Given the description of an element on the screen output the (x, y) to click on. 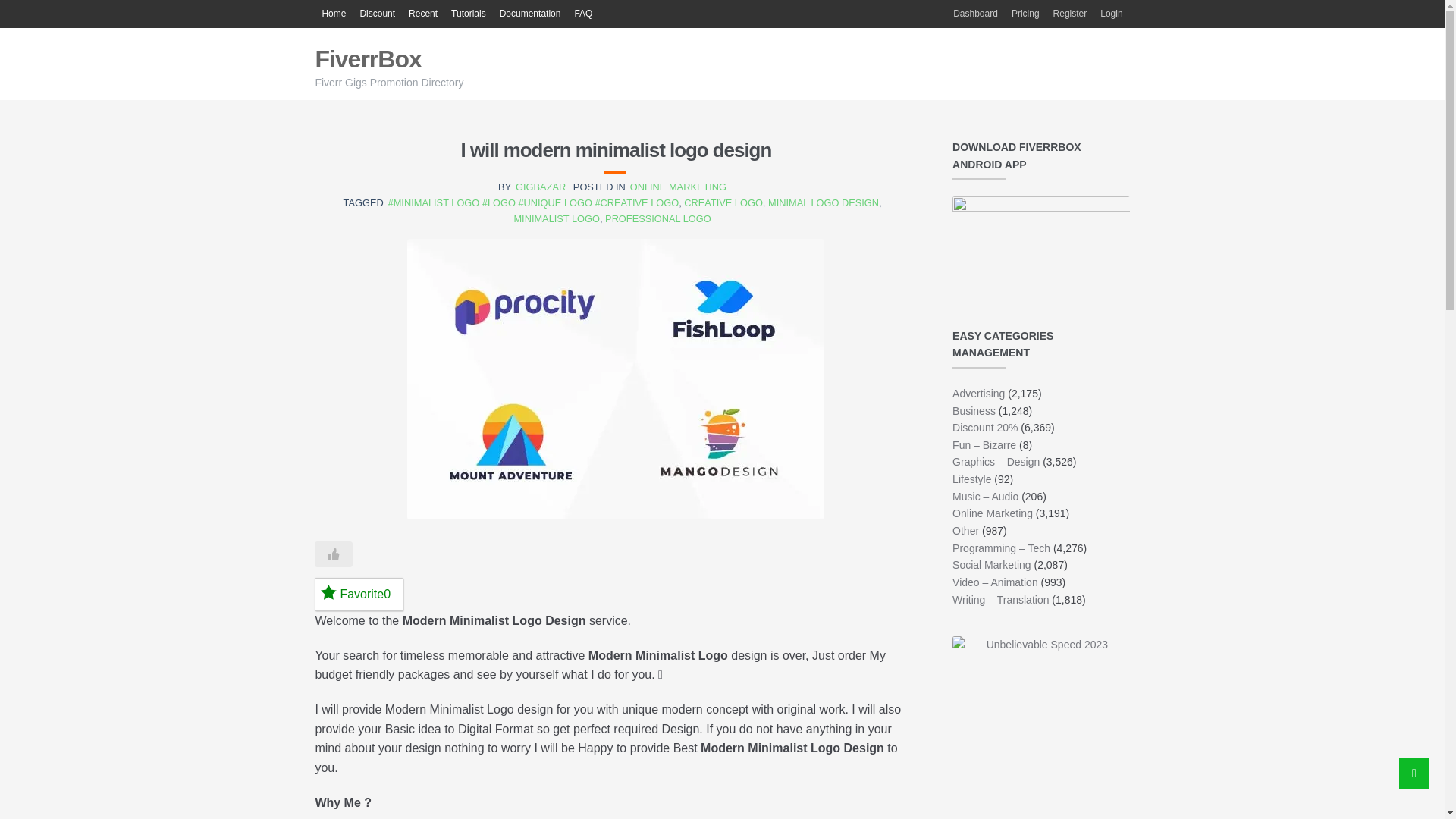
Posts by gigbazar (540, 186)
Directory (333, 13)
MINIMALIST LOGO (556, 218)
Documentation (530, 13)
Unbelievable Speed 2023 (1040, 725)
CREATIVE LOGO (723, 202)
Discount (376, 13)
Dashboard (975, 13)
Tutorials (468, 13)
FiverrBox (367, 58)
